Given the description of an element on the screen output the (x, y) to click on. 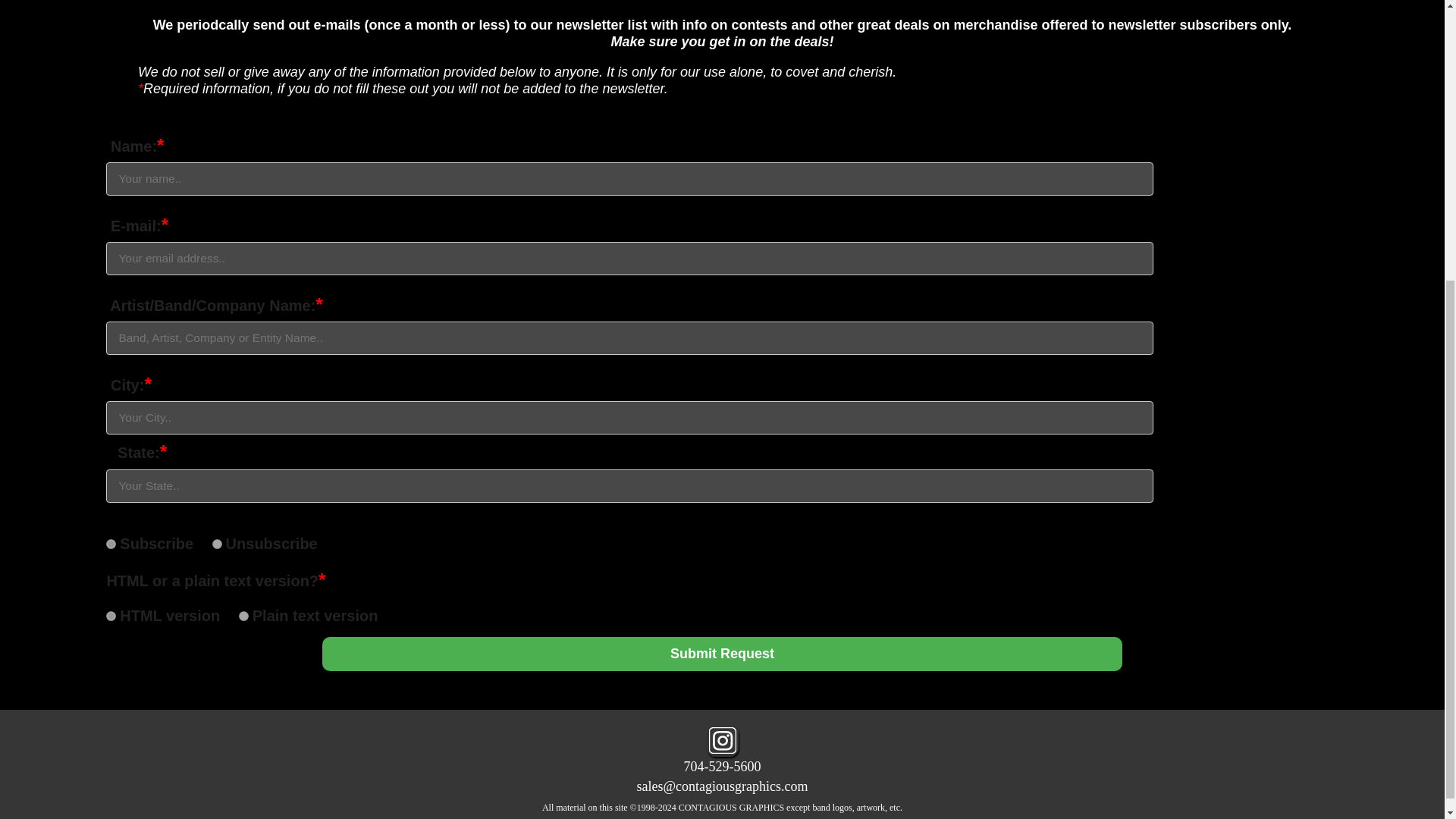
Instagram (722, 740)
Submit Request (721, 653)
Text version (243, 615)
Unsubscribed (217, 543)
HTML version (111, 615)
704-529-5600 (722, 766)
Subscribed (111, 543)
Submit Request (721, 653)
